Given the description of an element on the screen output the (x, y) to click on. 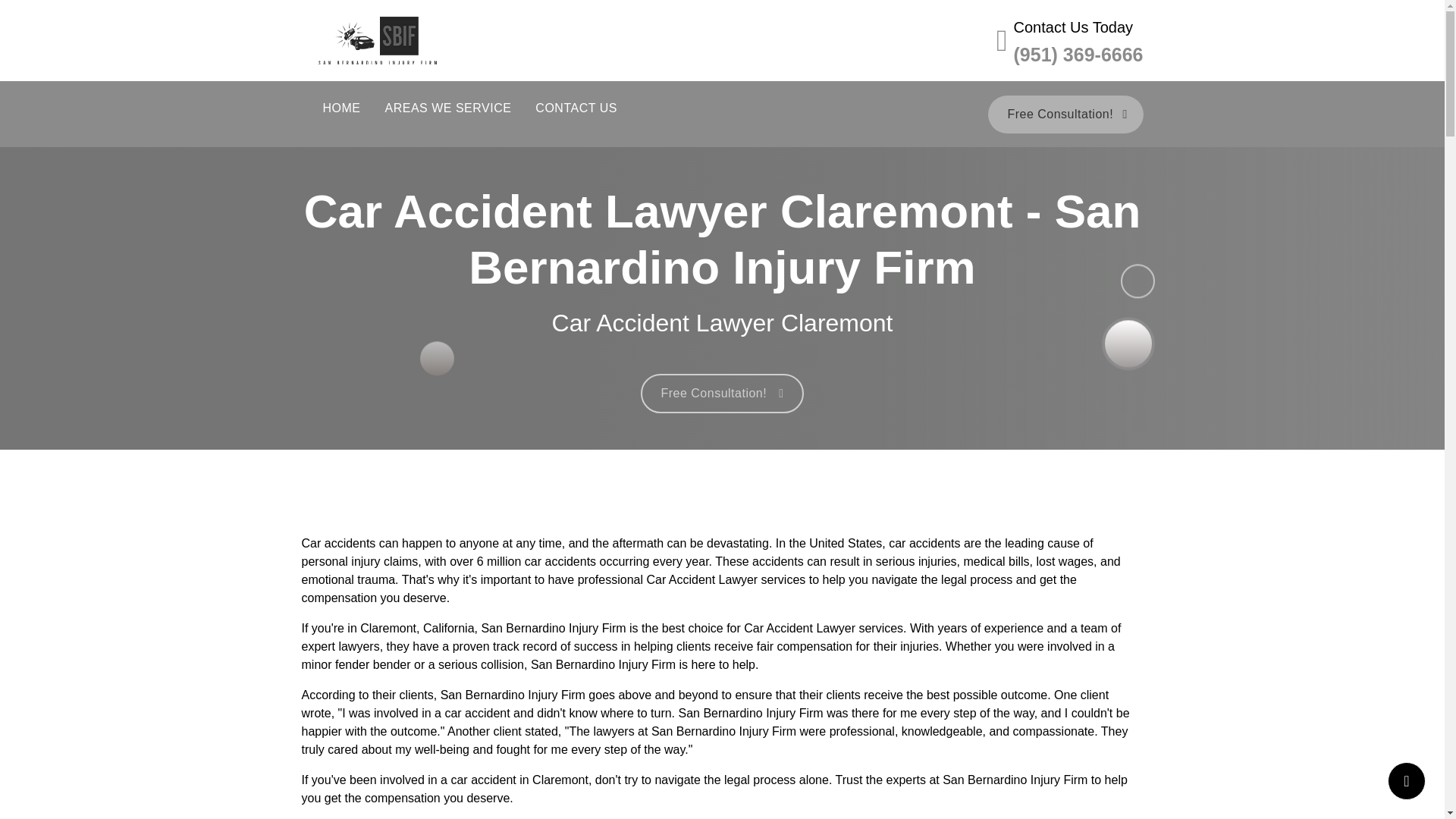
Free Consultation! (721, 393)
AREAS WE SERVICE (448, 108)
Free Consultation! (1065, 114)
HOME (341, 108)
CONTACT US (576, 108)
